Given the description of an element on the screen output the (x, y) to click on. 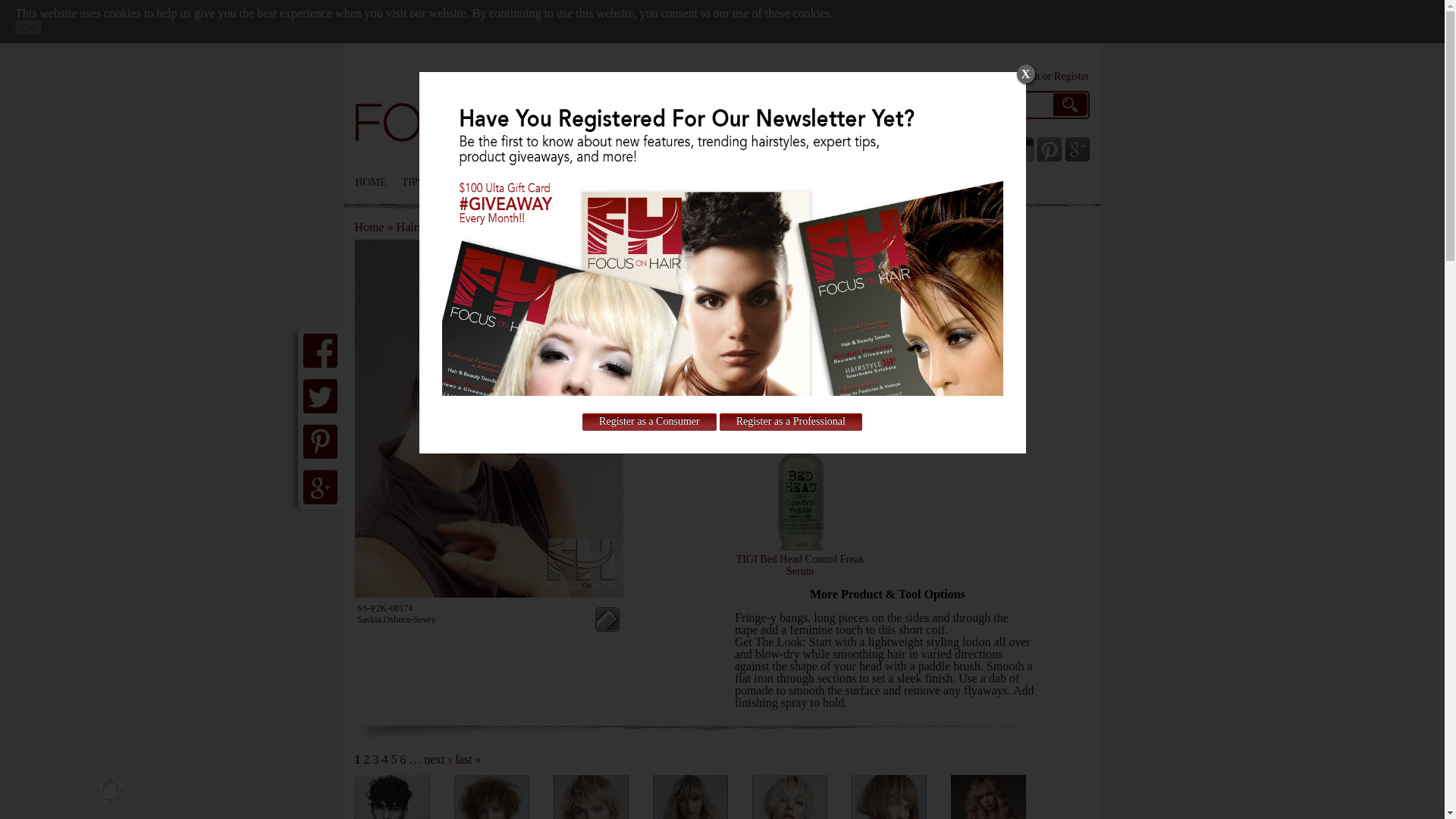
Hairstyle 360 (429, 226)
TIGI Bed Head Control Freak Serum (800, 565)
Home (374, 181)
HAIRSTYLE 360 (536, 181)
Get The Look (607, 618)
pinterest (1048, 148)
Login (1026, 75)
ColorProof CraftingPomade (799, 384)
Enter the terms you wish to search for. (988, 105)
Layered Bob with Movement (590, 796)
Mop Top Curls (490, 796)
Get The Look (887, 593)
Curl Top (392, 796)
HOME (374, 181)
HAIR COLOR (622, 181)
